Given the description of an element on the screen output the (x, y) to click on. 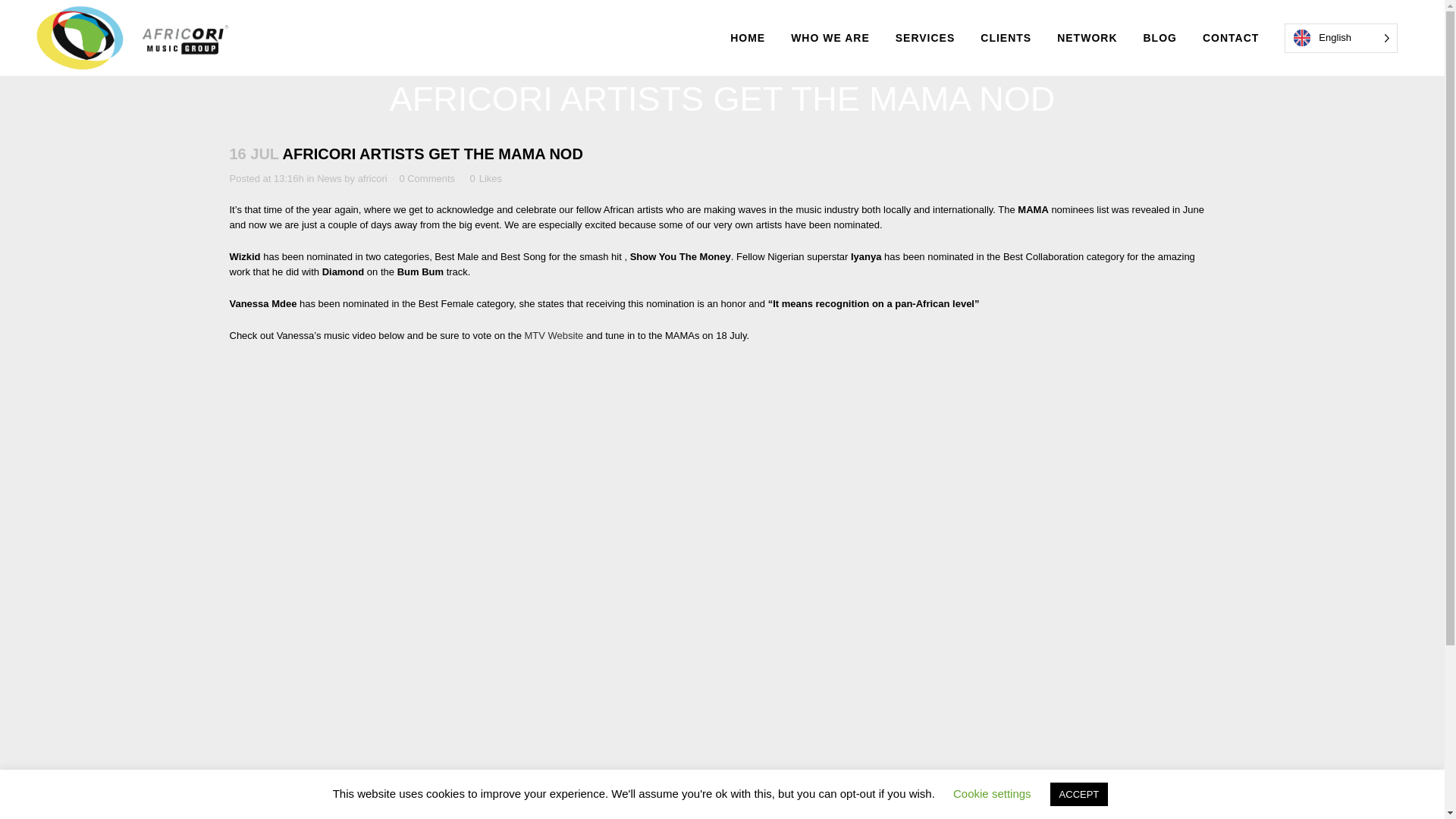
Cookie settings (991, 793)
africori (372, 178)
MTV Website (553, 335)
Like this (485, 178)
CONTACT (1230, 38)
WHO WE ARE (829, 38)
ACCEPT (1078, 793)
NETWORK (1086, 38)
News (329, 178)
CLIENTS (1005, 38)
SERVICES (925, 38)
0 Comments (426, 178)
0 Likes (485, 178)
